Given the description of an element on the screen output the (x, y) to click on. 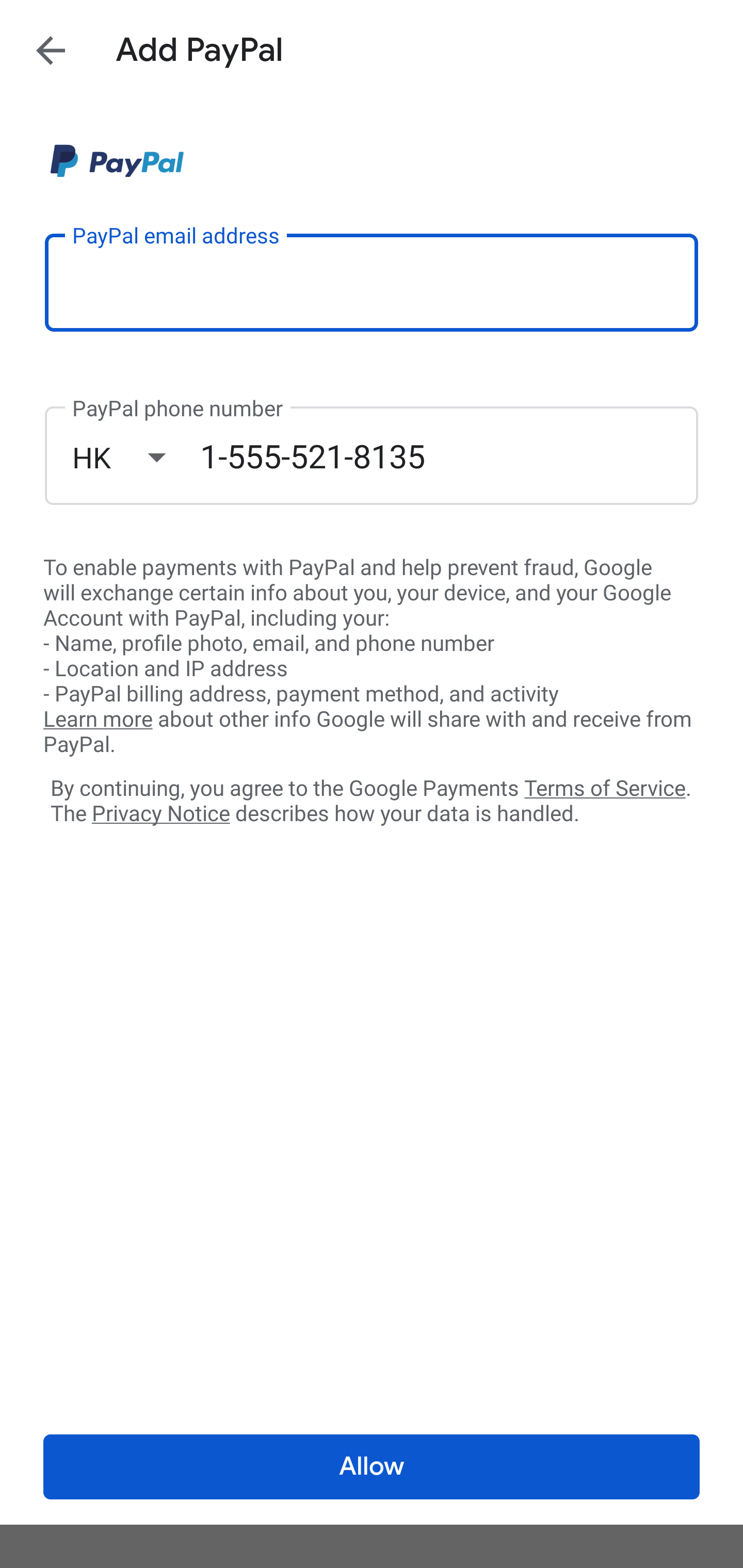
Navigate up (50, 50)
PayPal email address (371, 282)
HK (135, 456)
Learn more (97, 719)
Terms of Service (604, 787)
Privacy Notice (160, 814)
Allow (371, 1466)
